Given the description of an element on the screen output the (x, y) to click on. 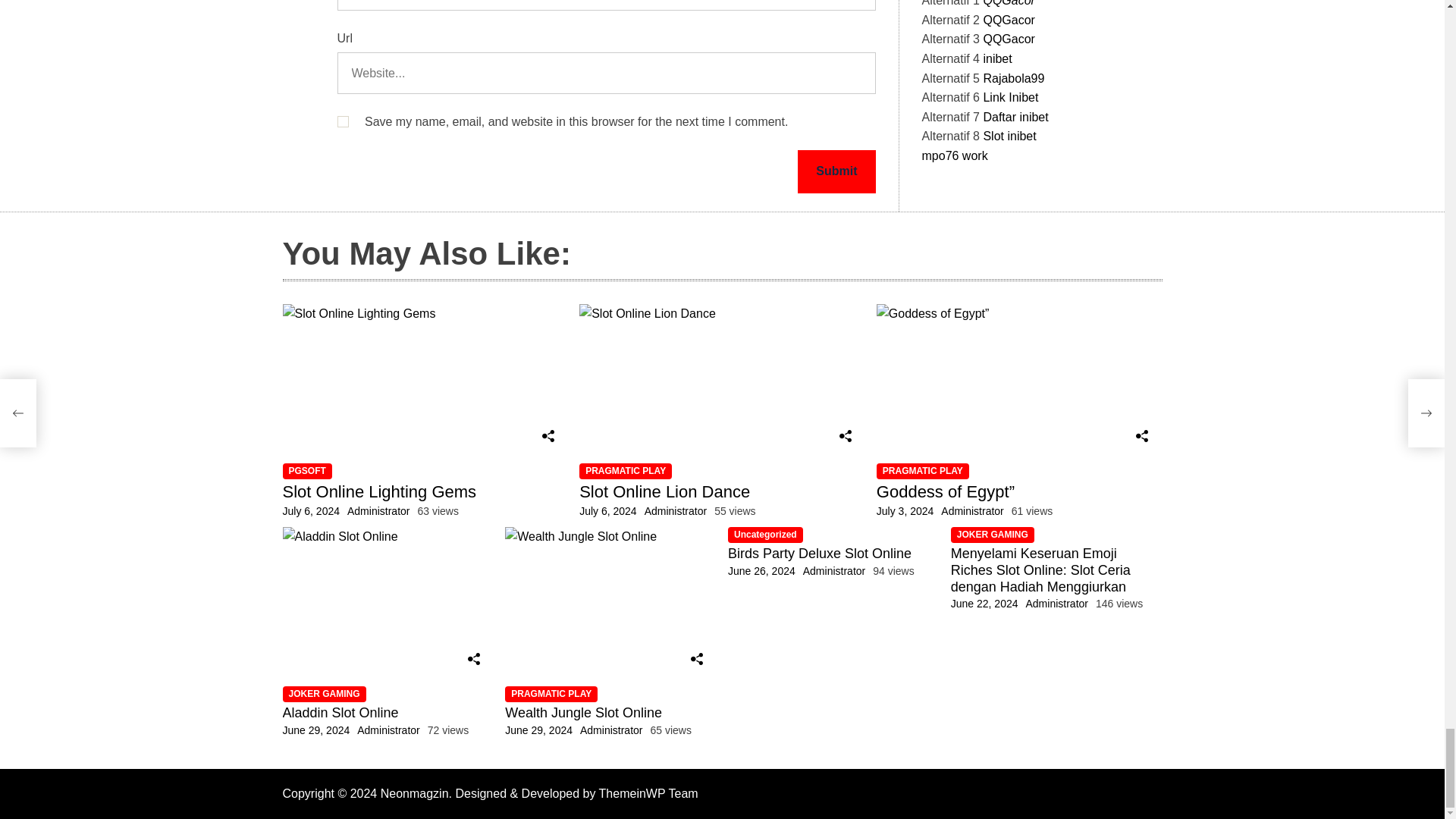
Submit (836, 171)
yes (341, 121)
